Given the description of an element on the screen output the (x, y) to click on. 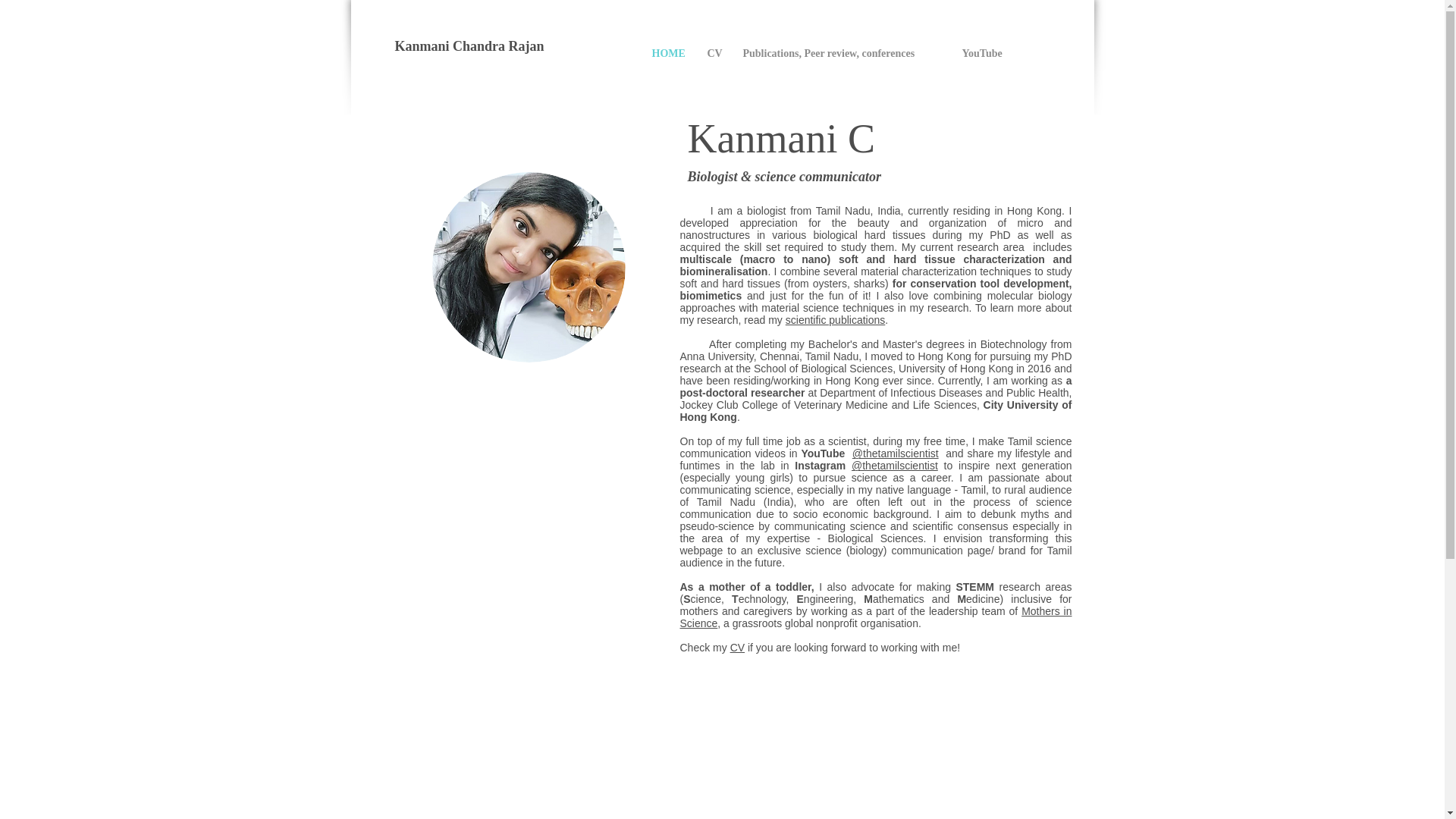
HOME (667, 53)
Publications, Peer review, conferences (840, 53)
CV (713, 53)
scientific publications (835, 319)
YouTube (983, 53)
Mothers in Science (875, 617)
Kanmani Chandra Rajan (468, 46)
CV (737, 647)
